Given the description of an element on the screen output the (x, y) to click on. 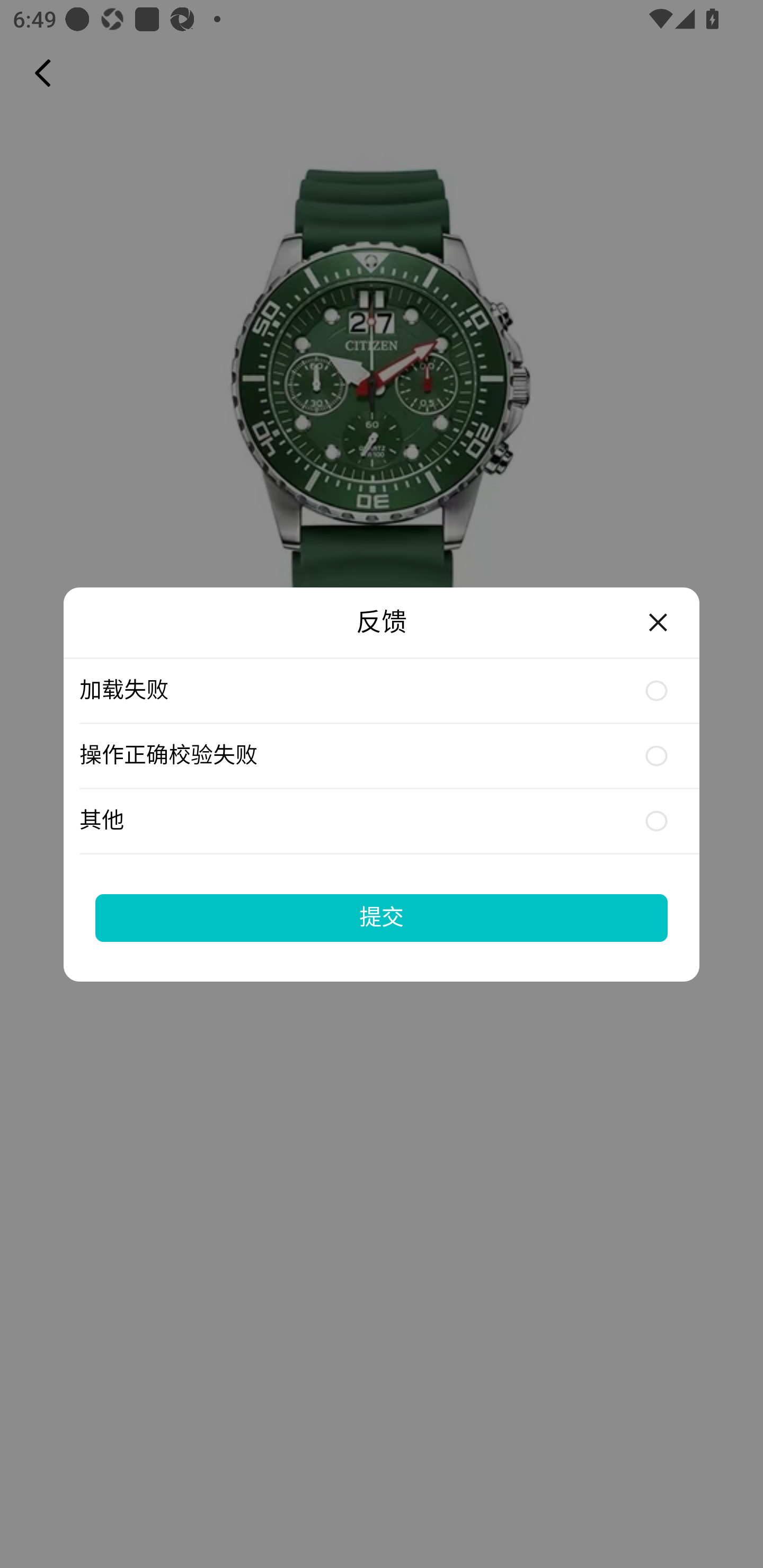
提交 (381, 917)
